Given the description of an element on the screen output the (x, y) to click on. 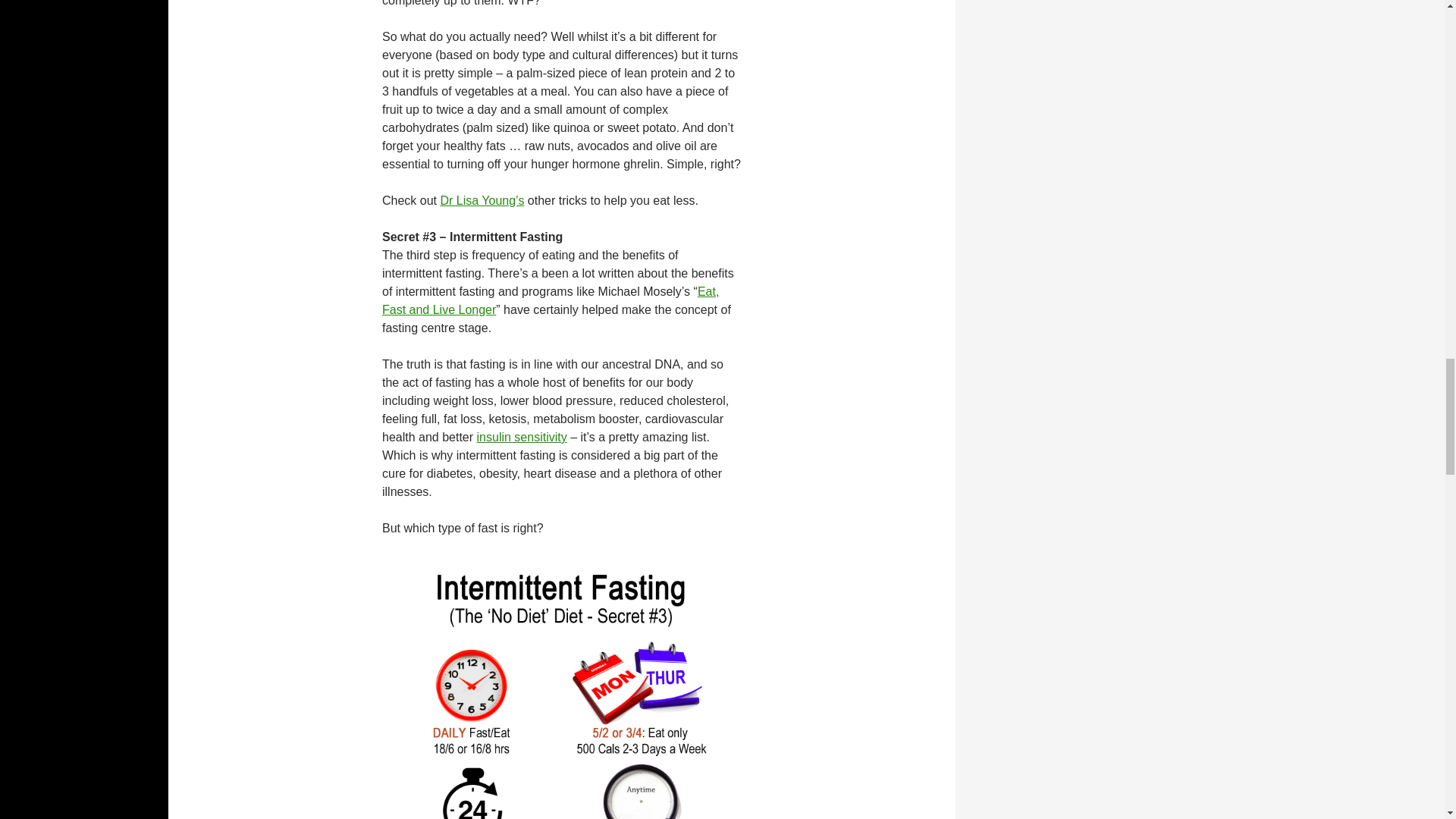
Eat, Fast and Live Longer (550, 300)
insulin sensitivity (522, 436)
